Given the description of an element on the screen output the (x, y) to click on. 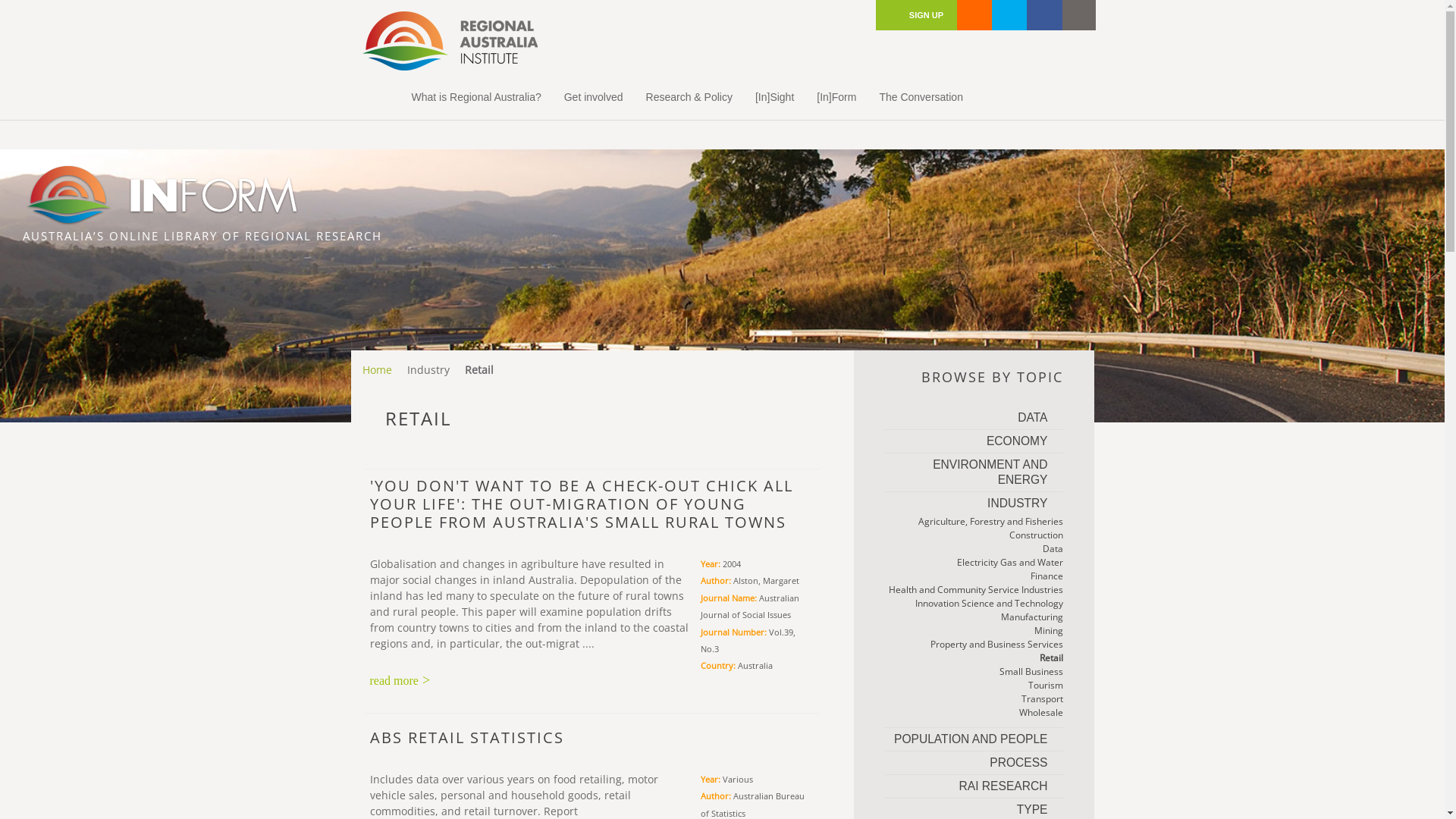
  Element type: text (974, 15)
Property and Business Services Element type: text (973, 644)
SIGN UP Element type: text (916, 15)
ABS RETAIL STATISTICS Element type: text (467, 745)
Retail Element type: text (973, 658)
Agriculture, Forestry and Fisheries Element type: text (973, 521)
Research & Policy Element type: text (689, 96)
Health and Community Service Industries Element type: text (973, 589)
Tourism Element type: text (973, 685)
Mining Element type: text (973, 630)
Home Element type: hover (379, 96)
Finance Element type: text (973, 576)
Transport Element type: text (973, 699)
read more Element type: text (400, 680)
Small Business Element type: text (973, 671)
Construction Element type: text (973, 535)
  Element type: text (1009, 15)
Home Element type: text (380, 369)
The Conversation Element type: text (920, 96)
Innovation Science and Technology Element type: text (973, 603)
Data Element type: text (973, 548)
DATA Element type: text (973, 417)
What is Regional Australia? Element type: text (475, 96)
Electricity Gas and Water Element type: text (973, 562)
[In]Sight Element type: text (774, 96)
  Element type: text (1044, 15)
Wholesale Element type: text (973, 712)
Get involved Element type: text (593, 96)
RAI RESEARCH Element type: text (973, 786)
[In]Form Element type: text (836, 96)
Manufacturing Element type: text (973, 617)
